Given the description of an element on the screen output the (x, y) to click on. 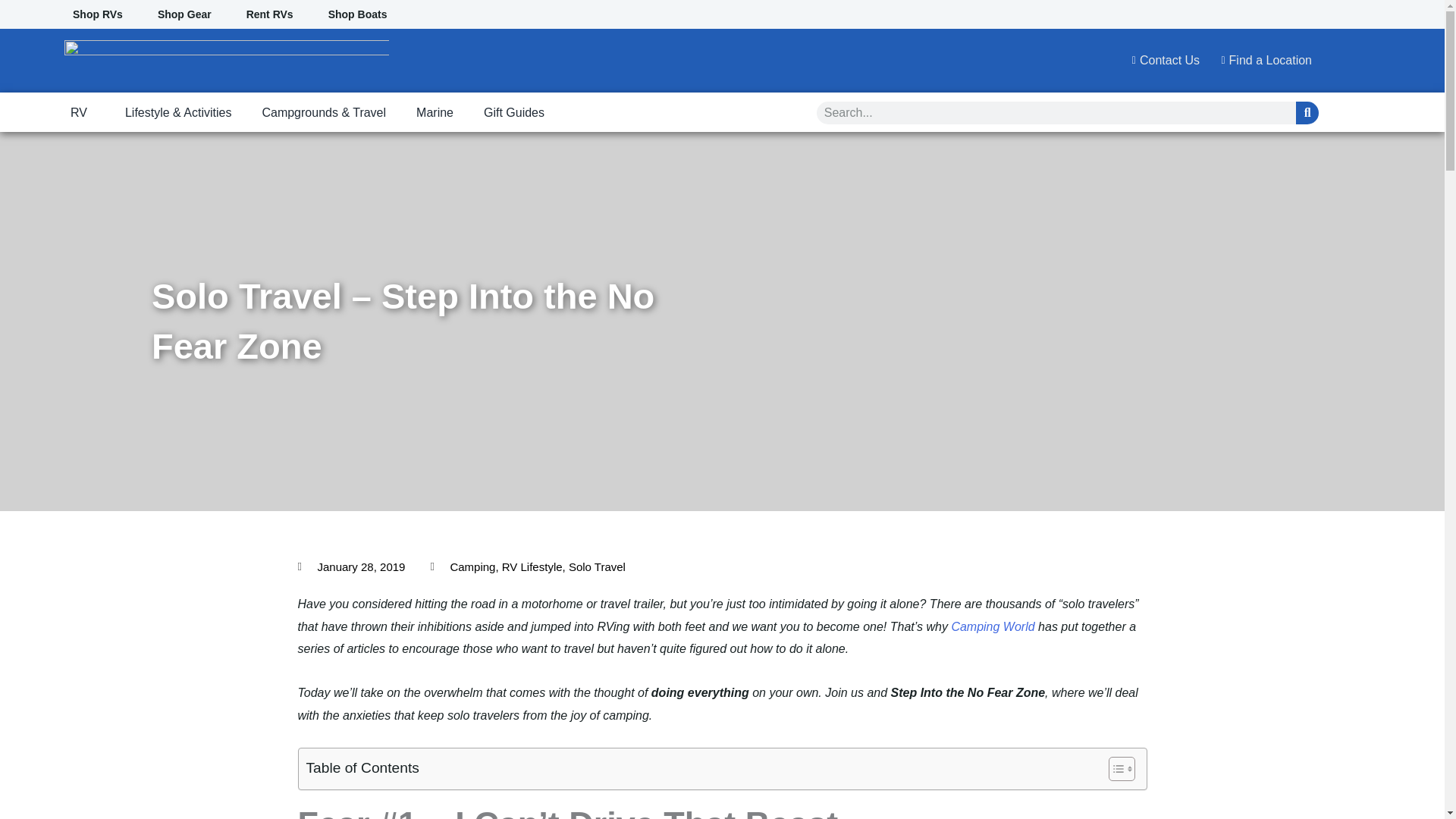
Shop RVs (97, 14)
RV (82, 112)
Find a Location (1261, 60)
Marine (434, 112)
Contact Us (1160, 60)
Shop Boats (357, 14)
Shop Gear (183, 14)
Rent RVs (269, 14)
